Given the description of an element on the screen output the (x, y) to click on. 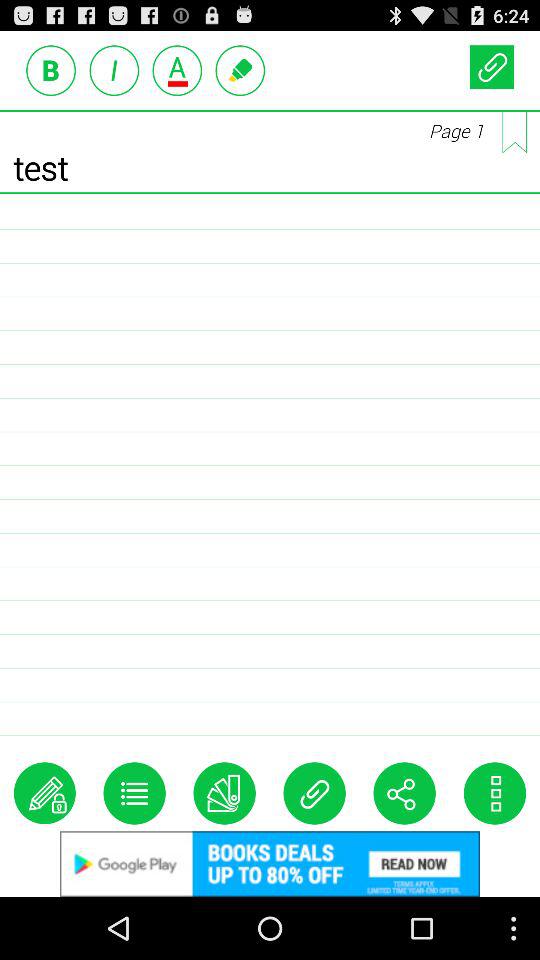
toggle bold text (51, 70)
